Given the description of an element on the screen output the (x, y) to click on. 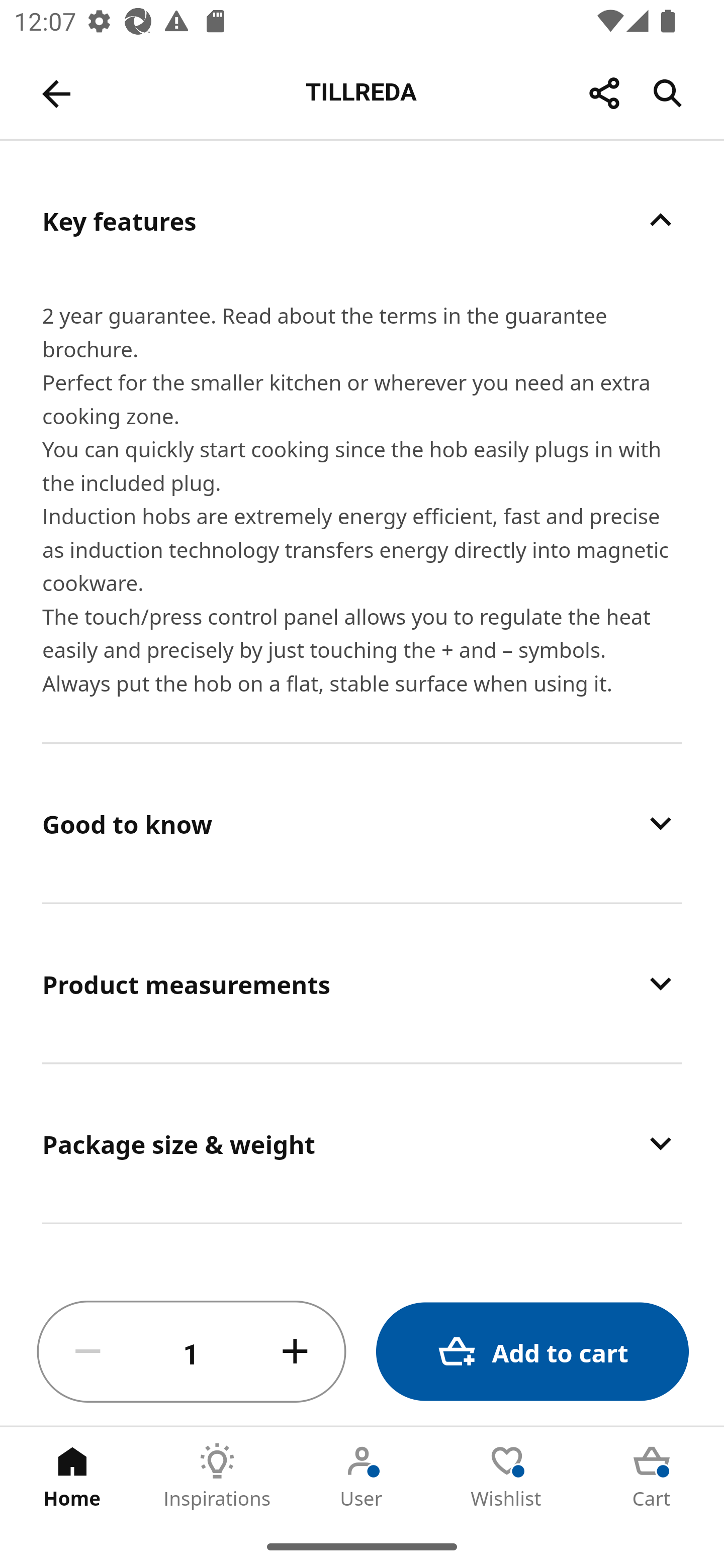
Key features (361, 219)
Good to know (361, 823)
Product measurements (361, 983)
Package size & weight (361, 1143)
Add to cart (531, 1352)
1 (191, 1352)
Home
Tab 1 of 5 (72, 1476)
Inspirations
Tab 2 of 5 (216, 1476)
User
Tab 3 of 5 (361, 1476)
Wishlist
Tab 4 of 5 (506, 1476)
Cart
Tab 5 of 5 (651, 1476)
